Given the description of an element on the screen output the (x, y) to click on. 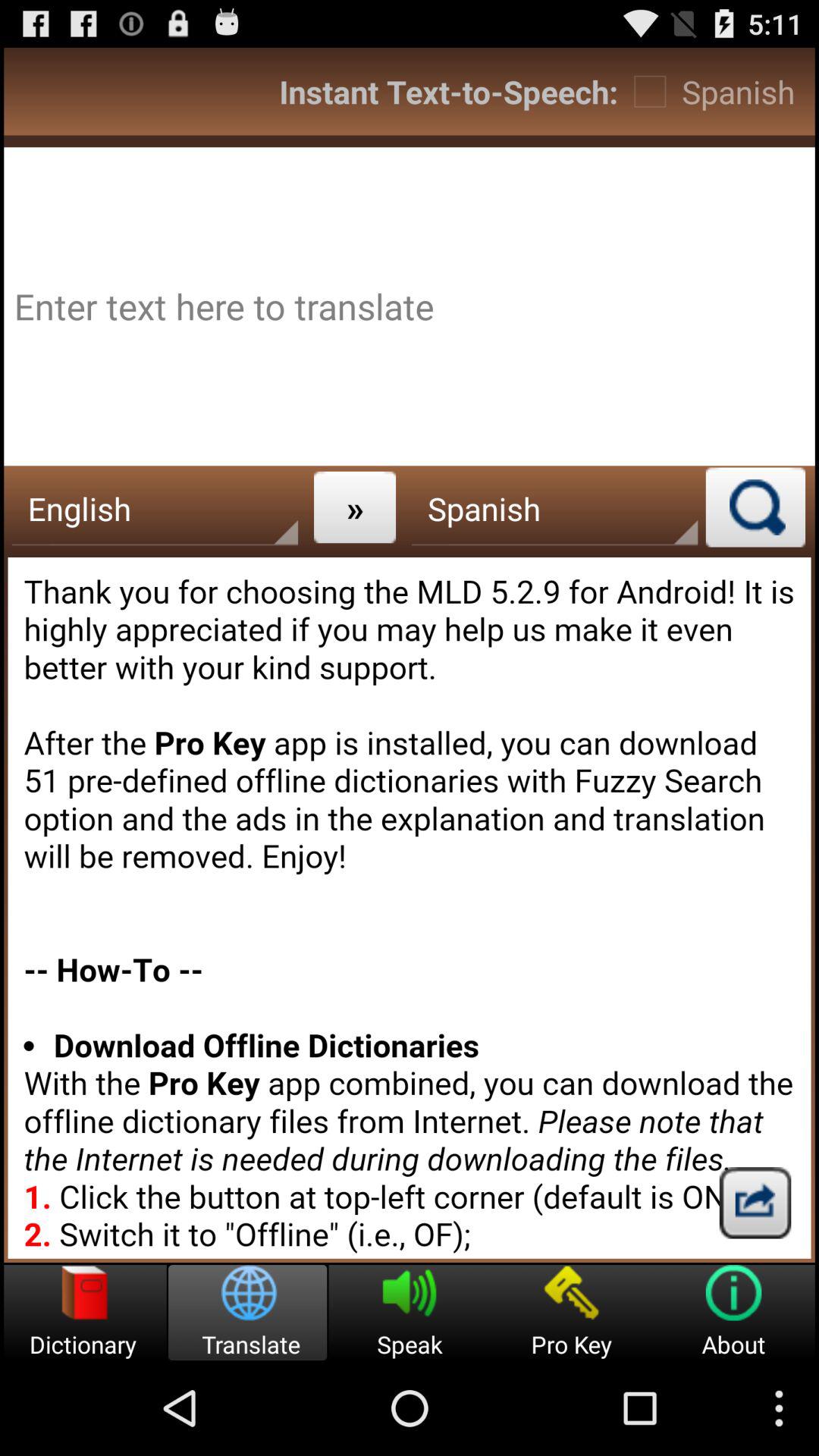
goto next (755, 1202)
